Given the description of an element on the screen output the (x, y) to click on. 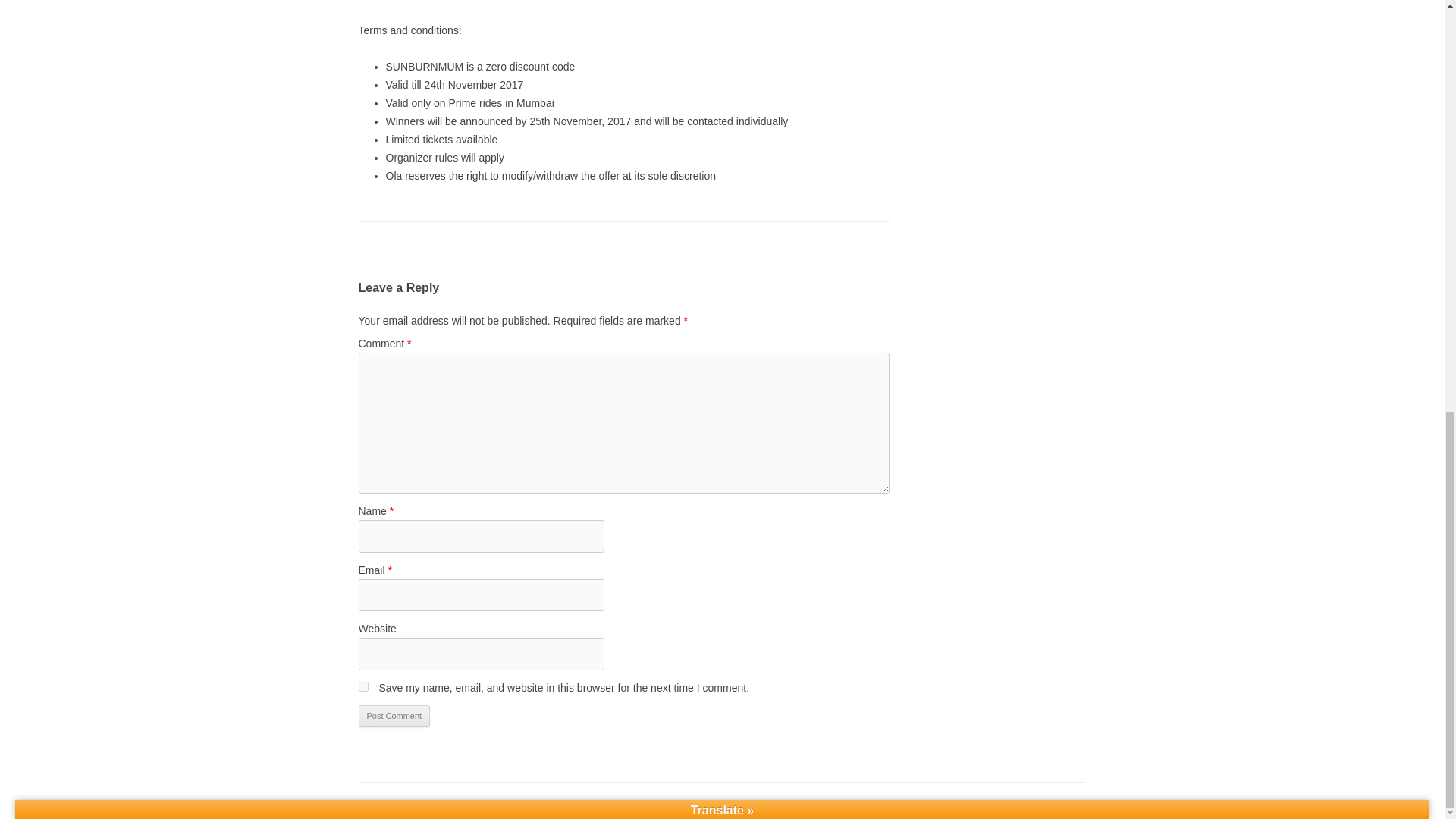
Post Comment (393, 716)
yes (363, 686)
Post Comment (393, 716)
